Given the description of an element on the screen output the (x, y) to click on. 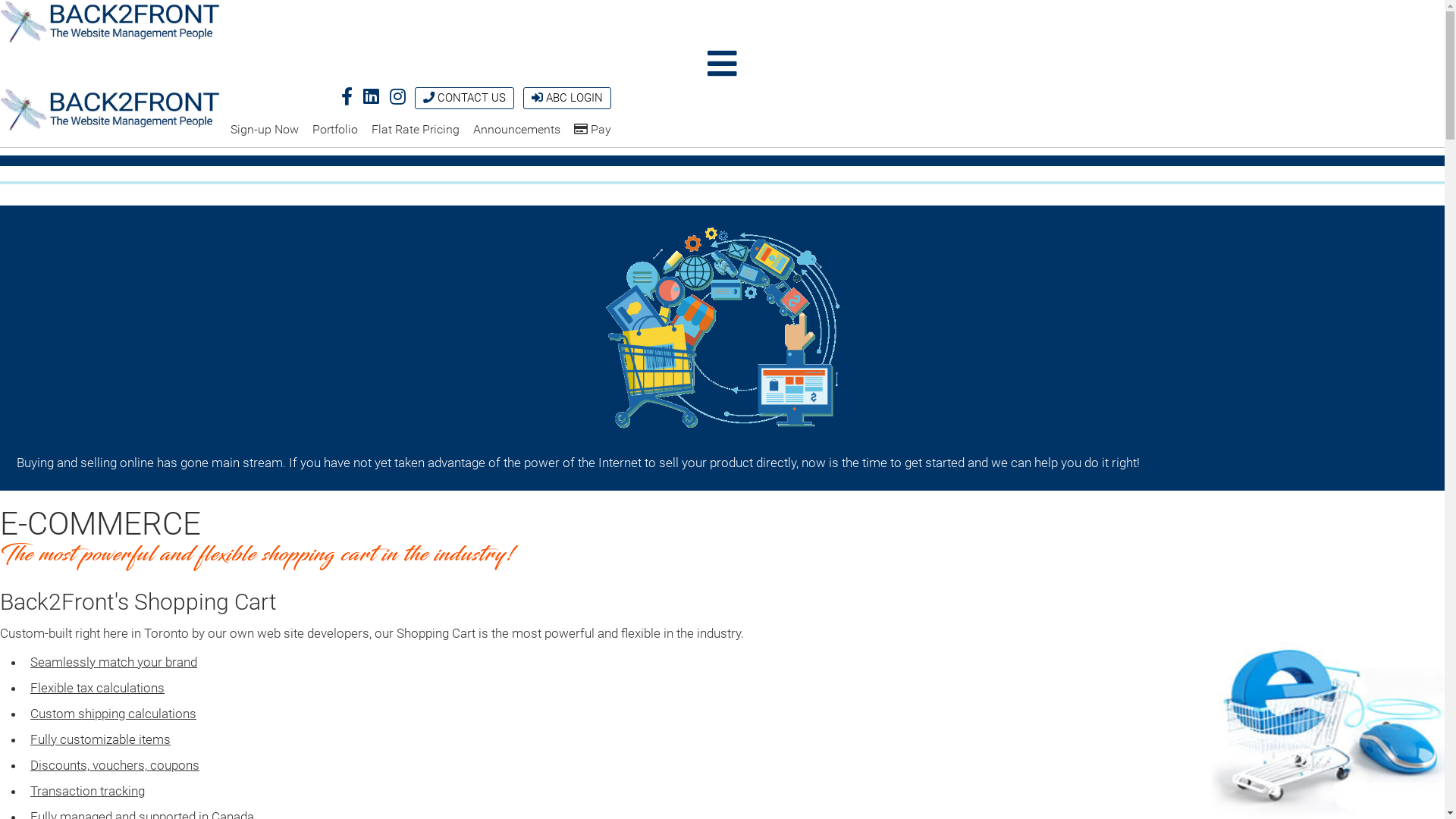
Follow Us On Facebook Element type: hover (346, 96)
E-Commerce Element type: hover (1326, 729)
Back2Front - The Website Management People Element type: hover (109, 109)
Flat Rate Pricing Element type: text (415, 129)
Discounts, vouchers, coupons Element type: text (114, 764)
Ecommerce Element type: hover (721, 328)
Back2Front Element type: hover (109, 109)
Back2Front - The Website Management People Element type: hover (109, 21)
Announcements Element type: text (516, 129)
Custom shipping calculations Element type: text (113, 713)
ABC Login Element type: hover (536, 97)
Fully customizable items Element type: text (100, 738)
Visit Us On LinkedIn Element type: hover (371, 96)
ABC LOGIN Element type: text (567, 98)
Pay Element type: text (592, 129)
Contact Us Element type: hover (428, 97)
Transaction tracking Element type: text (87, 790)
Portfolio Element type: text (334, 129)
Follow Us On Instagram Element type: hover (397, 96)
Back2Front Element type: hover (109, 22)
Flexible tax calculations Element type: text (97, 687)
CONTACT US Element type: text (464, 98)
Sign-up Now Element type: text (264, 129)
Back2Front Mobile Menu Element type: hover (722, 63)
Seamlessly match your brand Element type: text (113, 661)
